Given the description of an element on the screen output the (x, y) to click on. 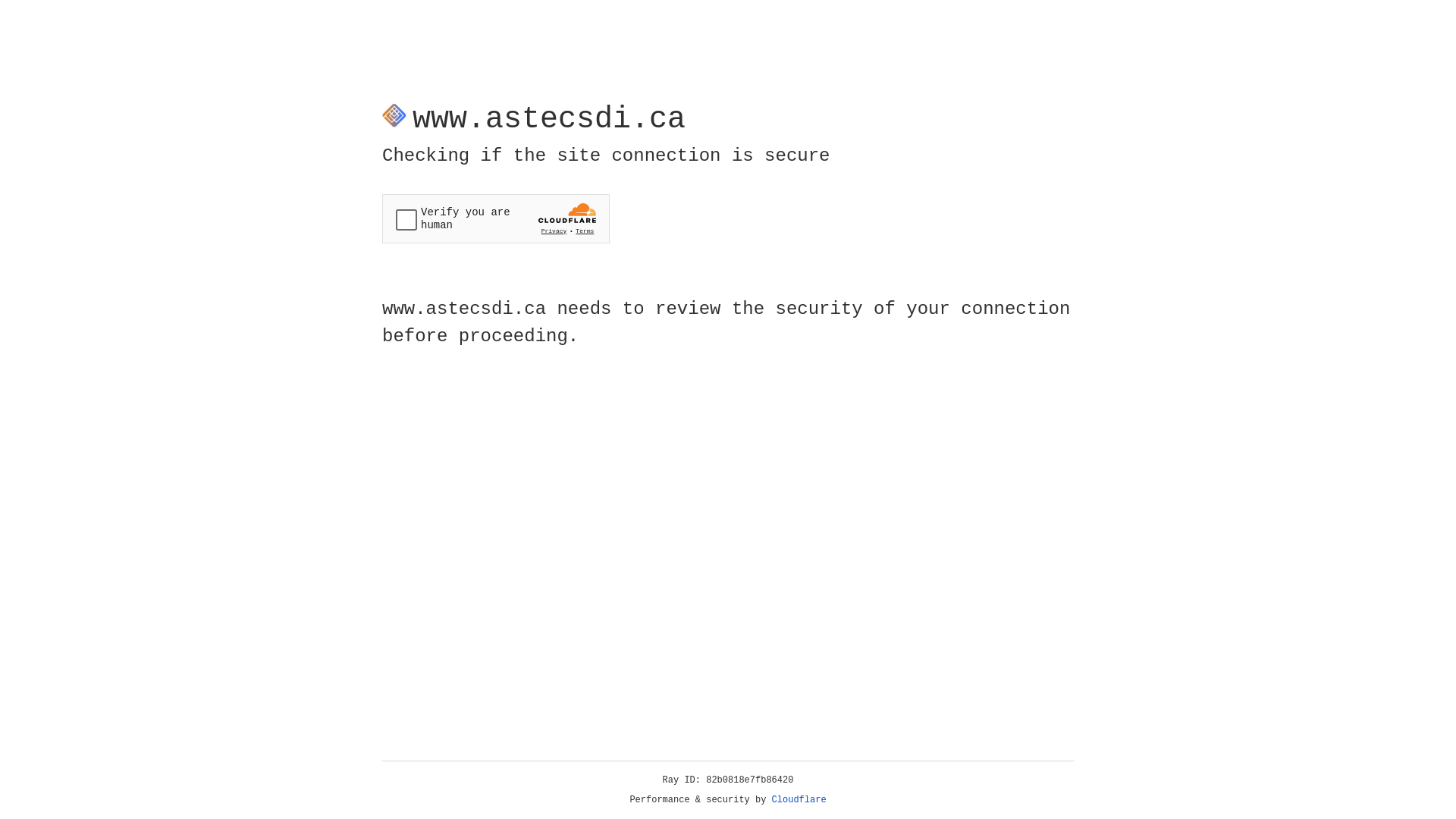
Cloudflare Element type: text (798, 799)
Widget containing a Cloudflare security challenge Element type: hover (495, 218)
